Given the description of an element on the screen output the (x, y) to click on. 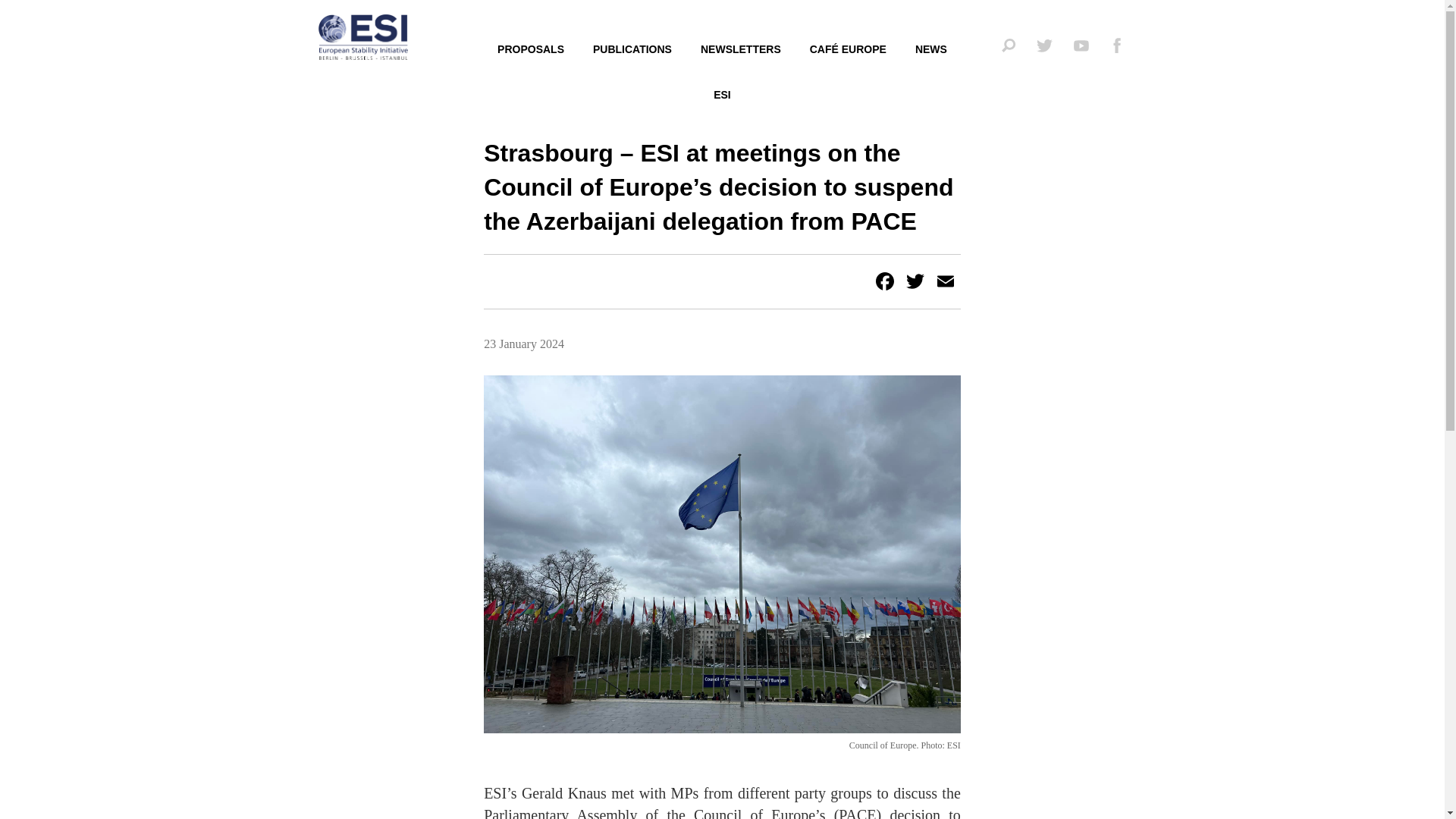
Twitter (914, 280)
Email (945, 280)
Facebook (884, 280)
Search (1085, 149)
NEWS (930, 49)
PUBLICATIONS (631, 49)
PROPOSALS (530, 49)
NEWSLETTERS (740, 49)
